Given the description of an element on the screen output the (x, y) to click on. 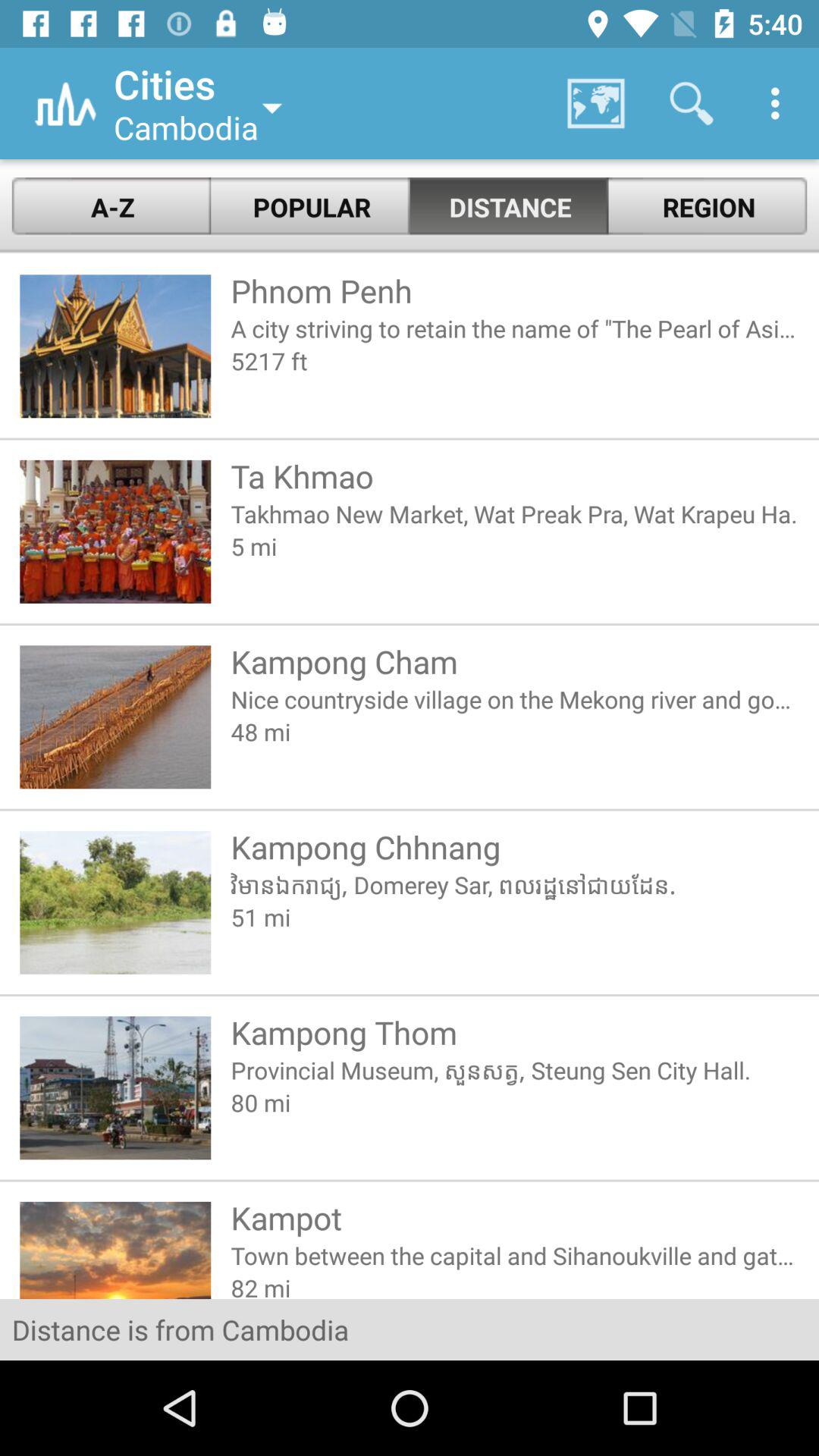
select the icon next to a-z item (310, 206)
